Given the description of an element on the screen output the (x, y) to click on. 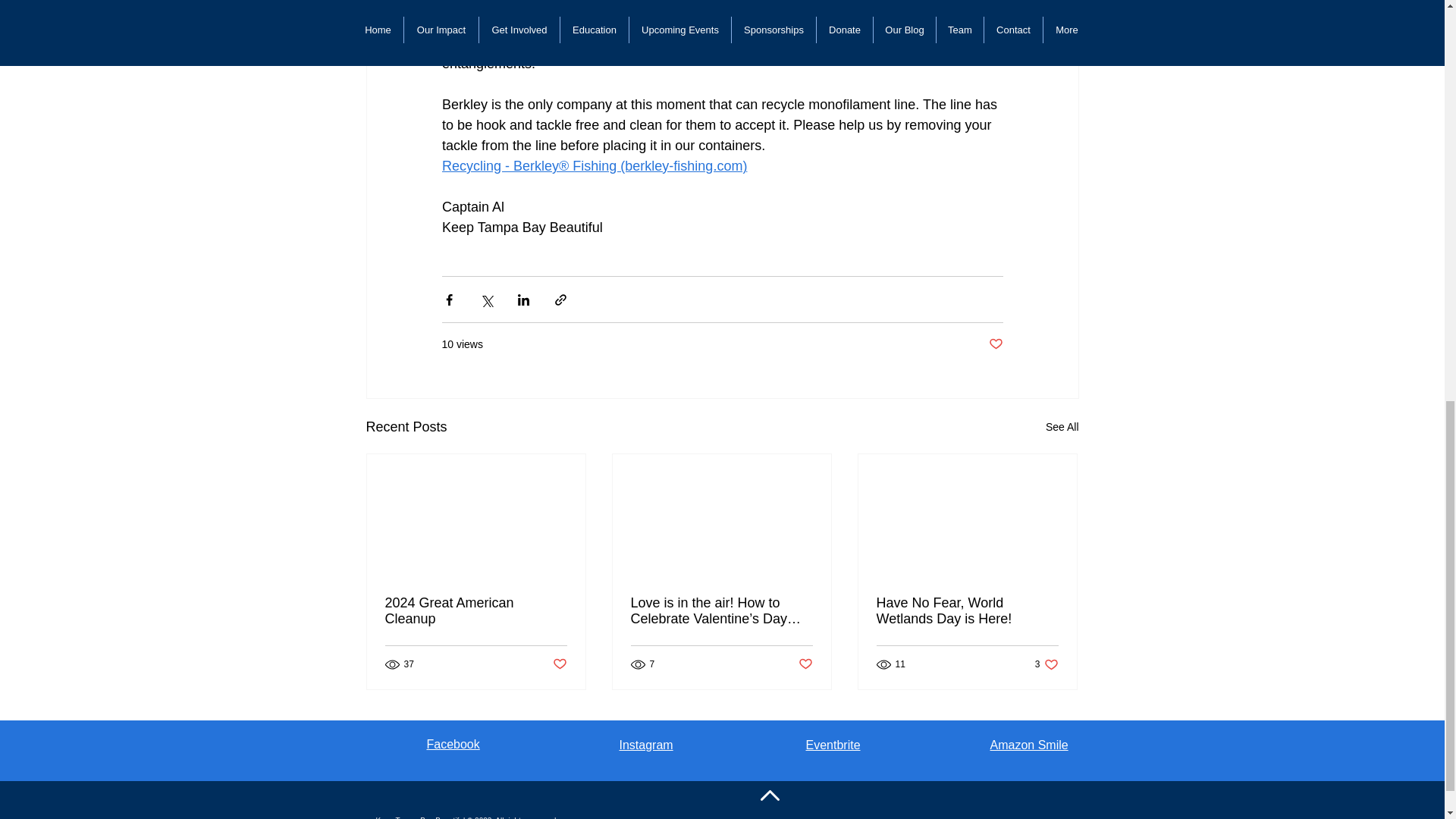
Post not marked as liked (804, 664)
2024 Great American Cleanup (476, 611)
Post not marked as liked (995, 344)
Post not marked as liked (558, 664)
See All (1061, 427)
